Given the description of an element on the screen output the (x, y) to click on. 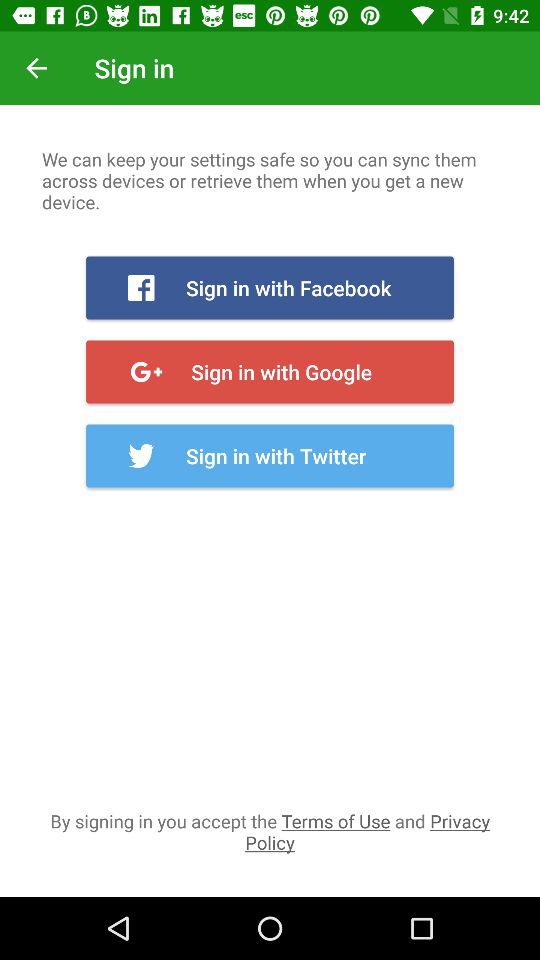
scroll until the by signing in (270, 831)
